Given the description of an element on the screen output the (x, y) to click on. 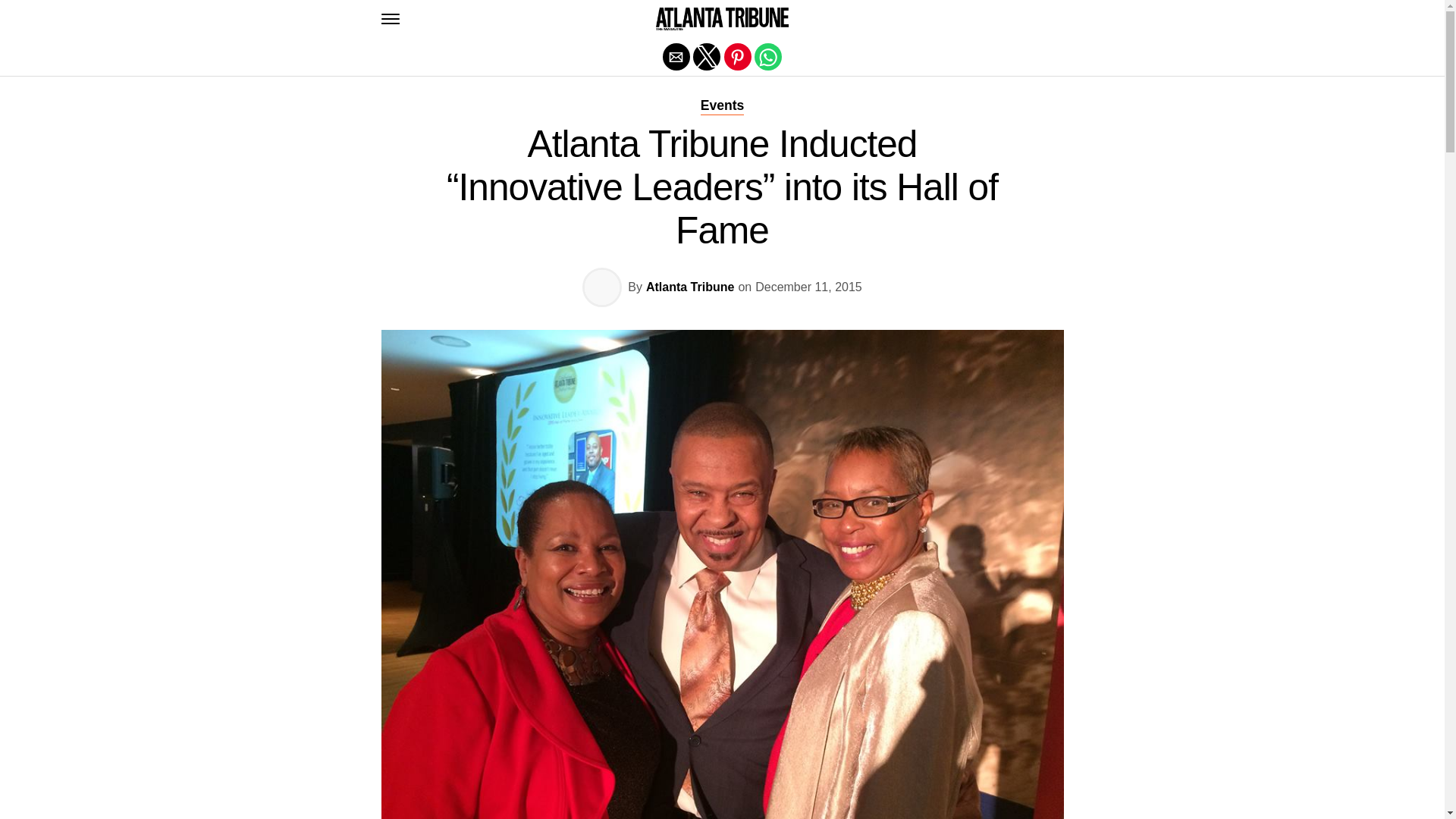
Atlanta Tribune (689, 286)
Posts by Atlanta Tribune (689, 286)
Events (722, 105)
